Given the description of an element on the screen output the (x, y) to click on. 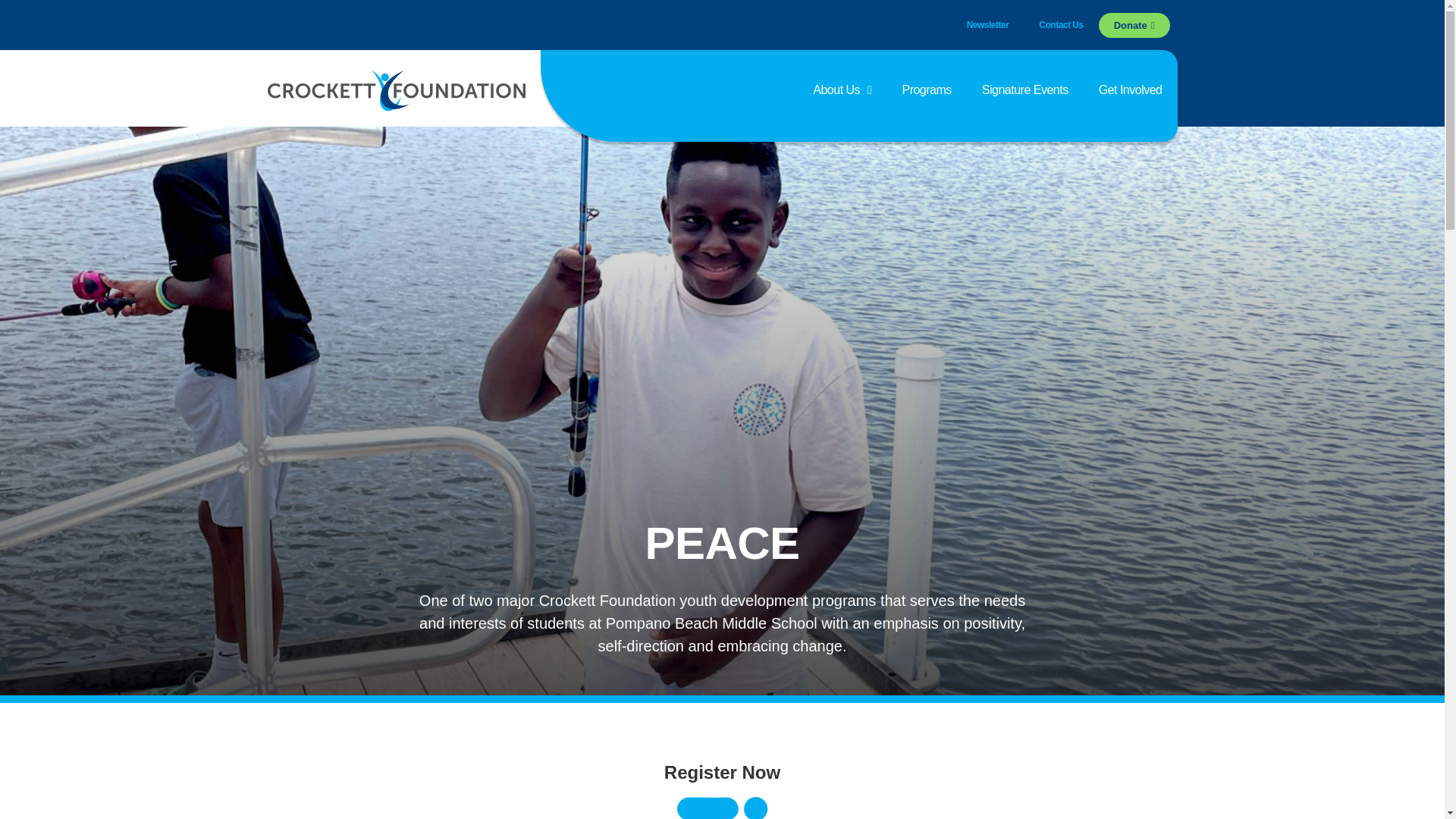
Get Involved (1130, 89)
Programs (926, 89)
Contact Us (1060, 24)
Newsletter (988, 24)
Signature Events (1024, 89)
About Us (841, 89)
Donate (1134, 24)
